Given the description of an element on the screen output the (x, y) to click on. 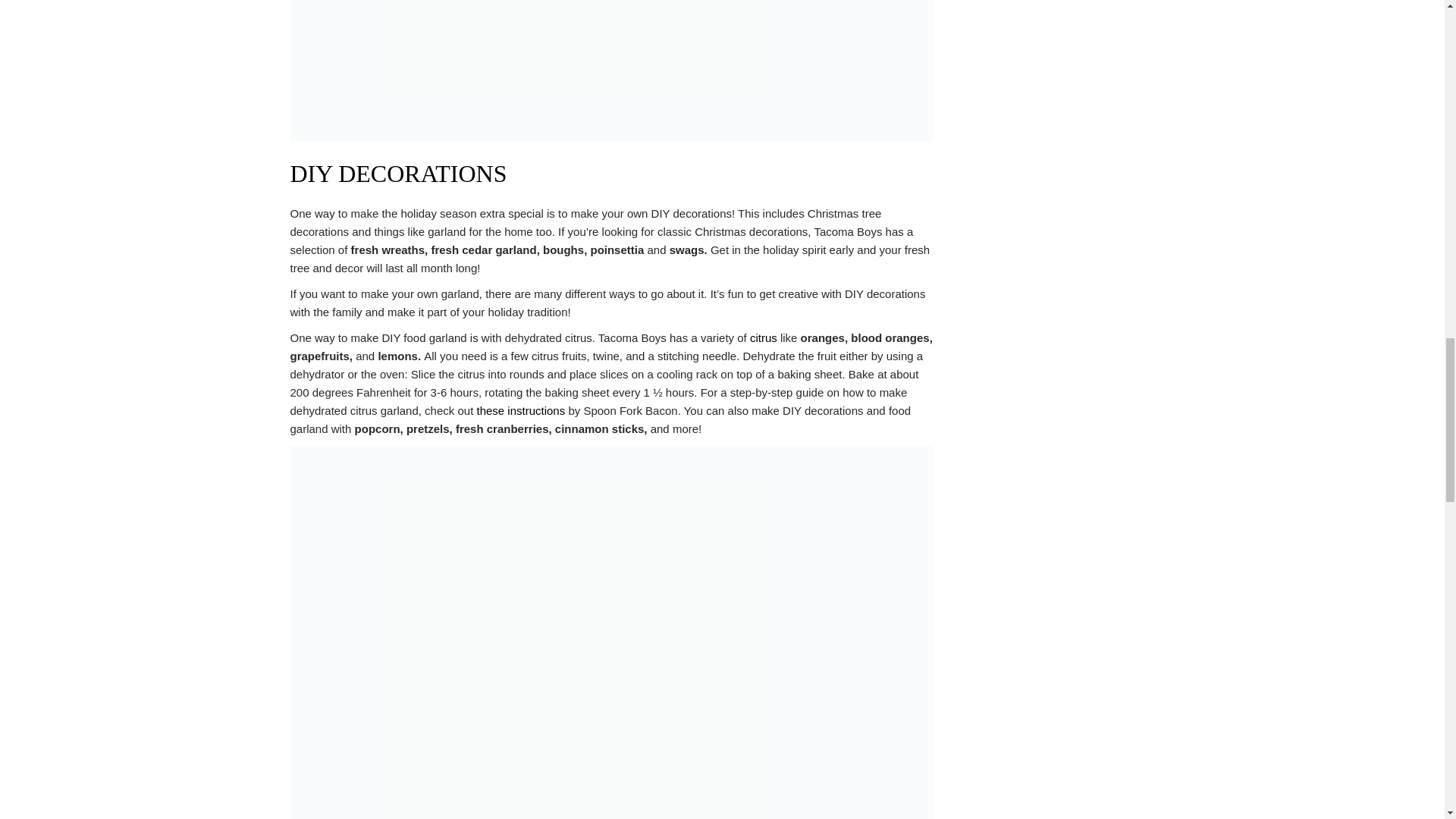
these instructions (520, 410)
citrus (763, 337)
